Given the description of an element on the screen output the (x, y) to click on. 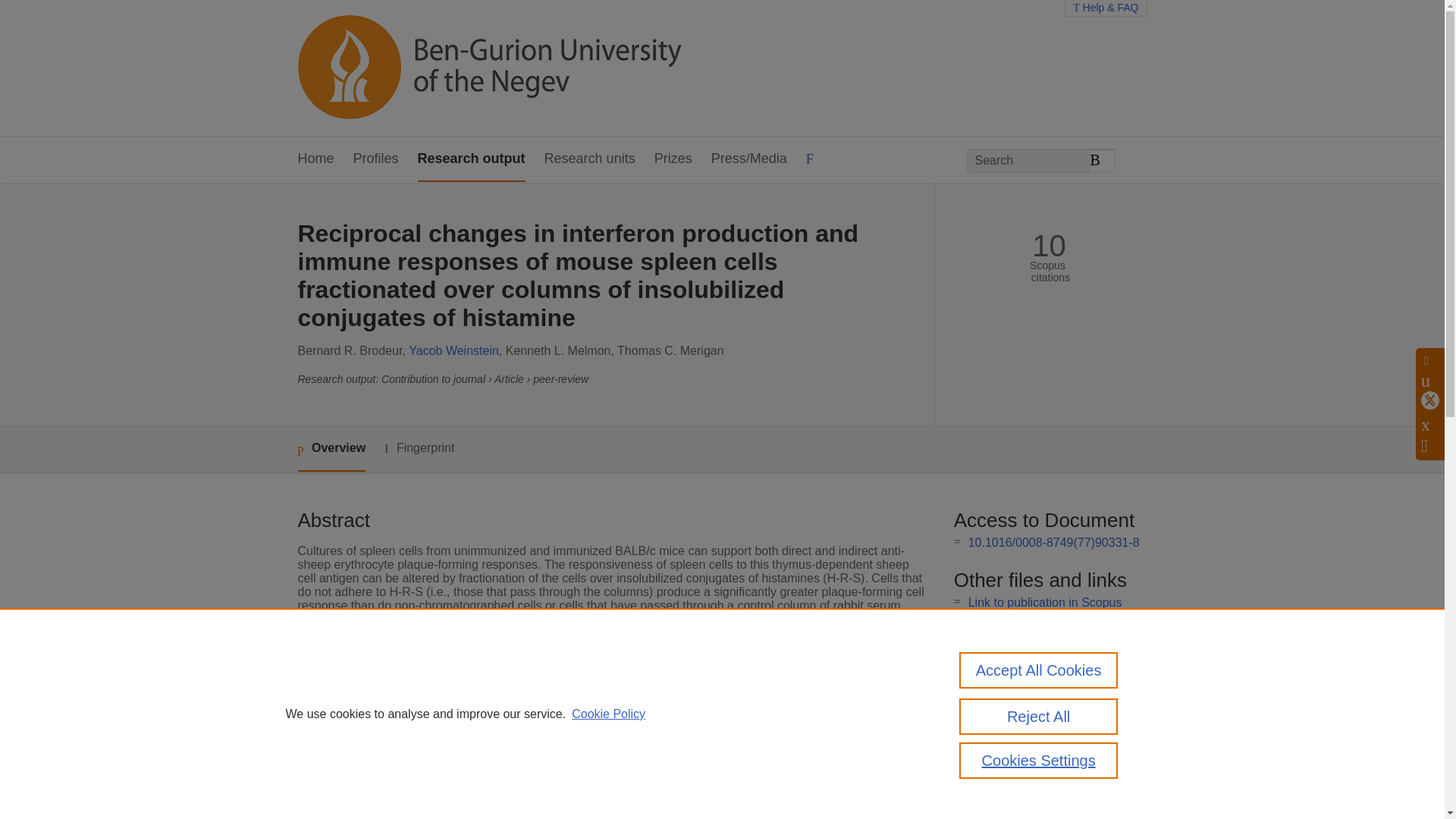
Overview (331, 448)
Link to publication in Scopus (1045, 602)
Research units (589, 159)
Cellular Immunology (565, 778)
Research output (471, 159)
Yacob Weinstein (454, 350)
Fingerprint (419, 448)
Ben-Gurion University Research Portal Home (489, 68)
Profiles (375, 159)
